Given the description of an element on the screen output the (x, y) to click on. 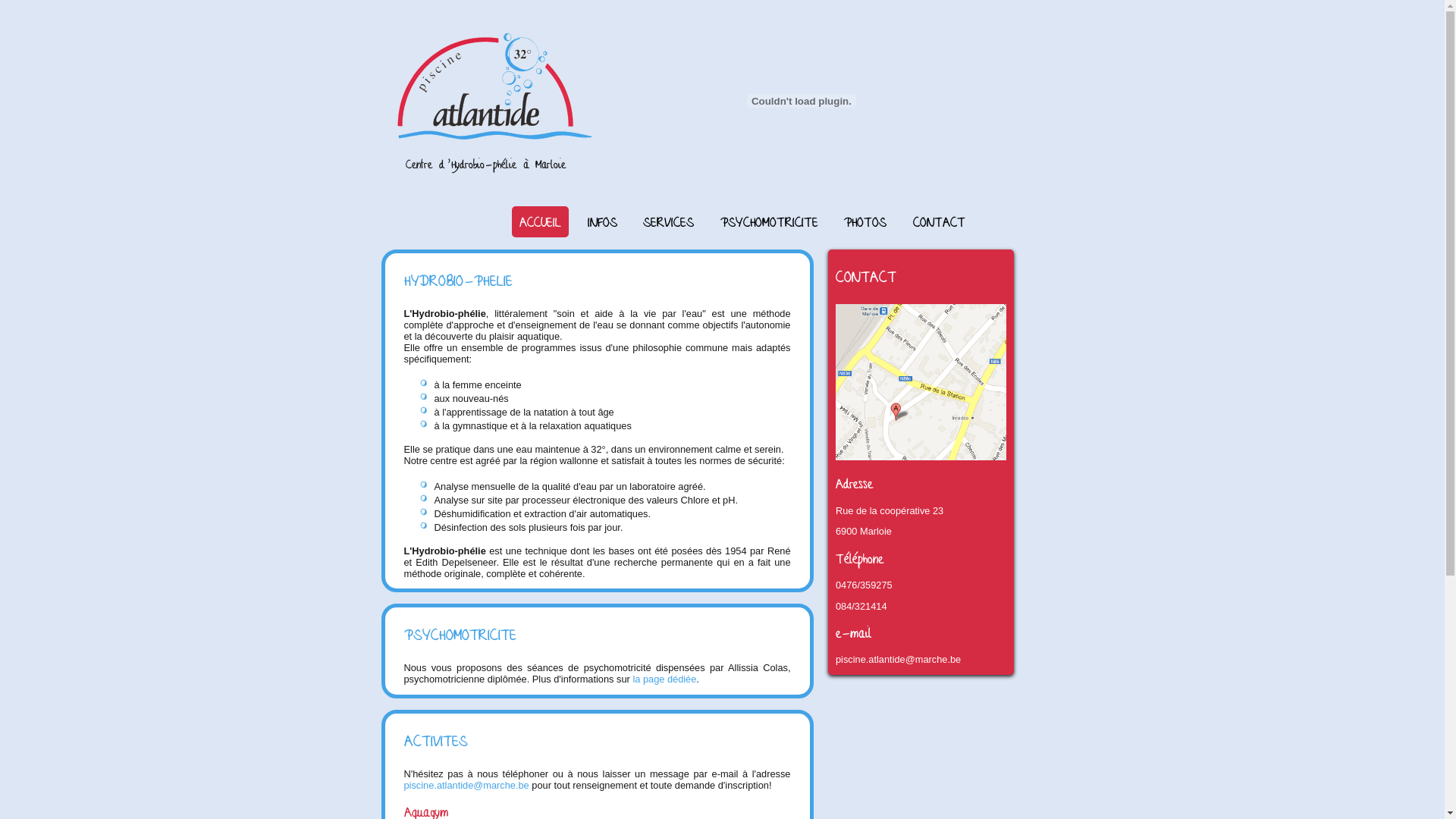
ACCUEIL Element type: text (539, 221)
piscine.atlantide@marche.be Element type: text (465, 784)
PHOTOS Element type: text (865, 221)
INFOS Element type: text (602, 221)
CONTACT Element type: text (938, 221)
PSYCHOMOTRICITE Element type: text (768, 221)
SERVICES Element type: text (668, 221)
piscine.atlantide@marche.be Element type: text (897, 659)
